Given the description of an element on the screen output the (x, y) to click on. 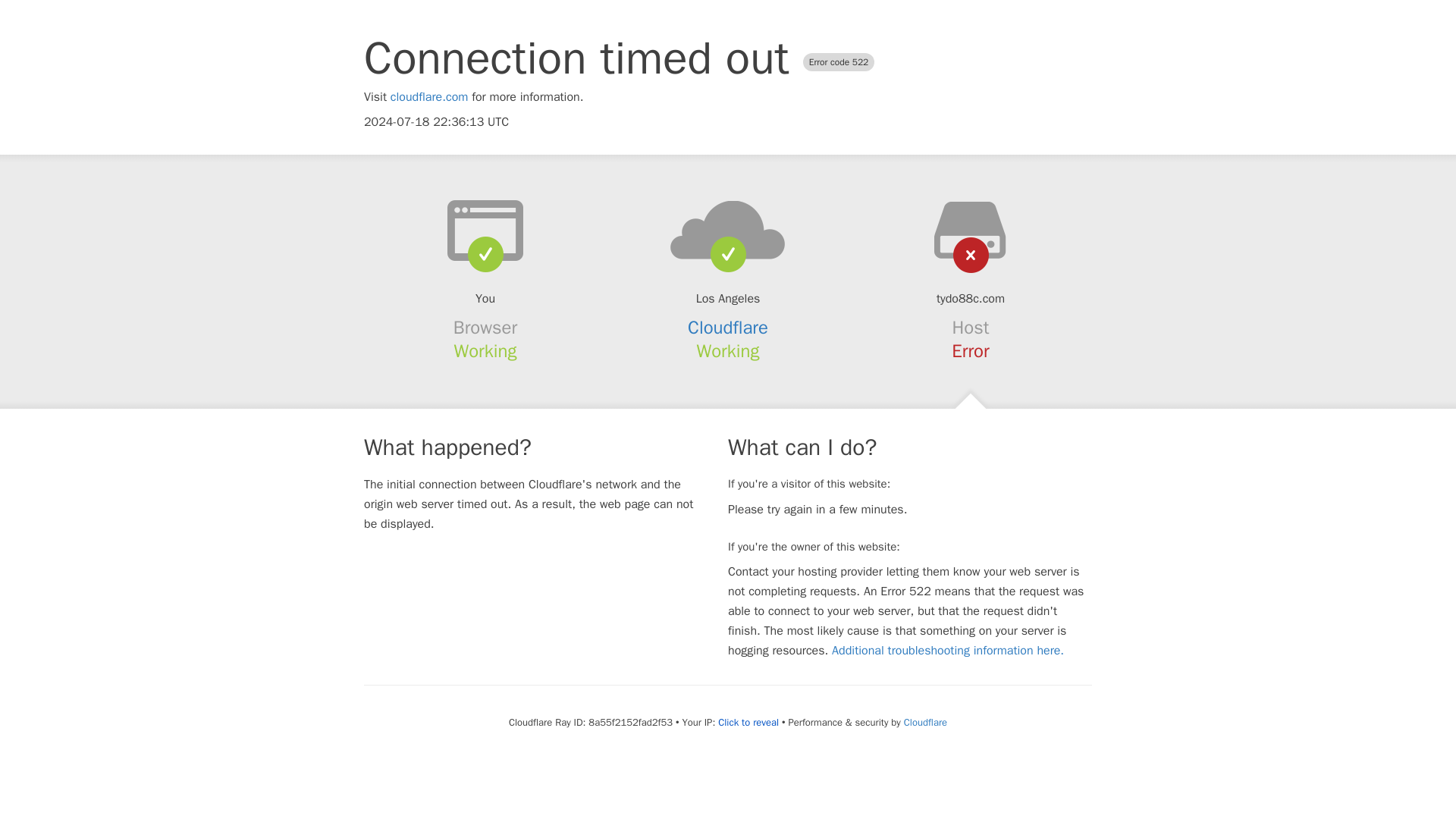
Cloudflare (727, 327)
Additional troubleshooting information here. (947, 650)
Click to reveal (747, 722)
Cloudflare (925, 721)
cloudflare.com (429, 96)
